Given the description of an element on the screen output the (x, y) to click on. 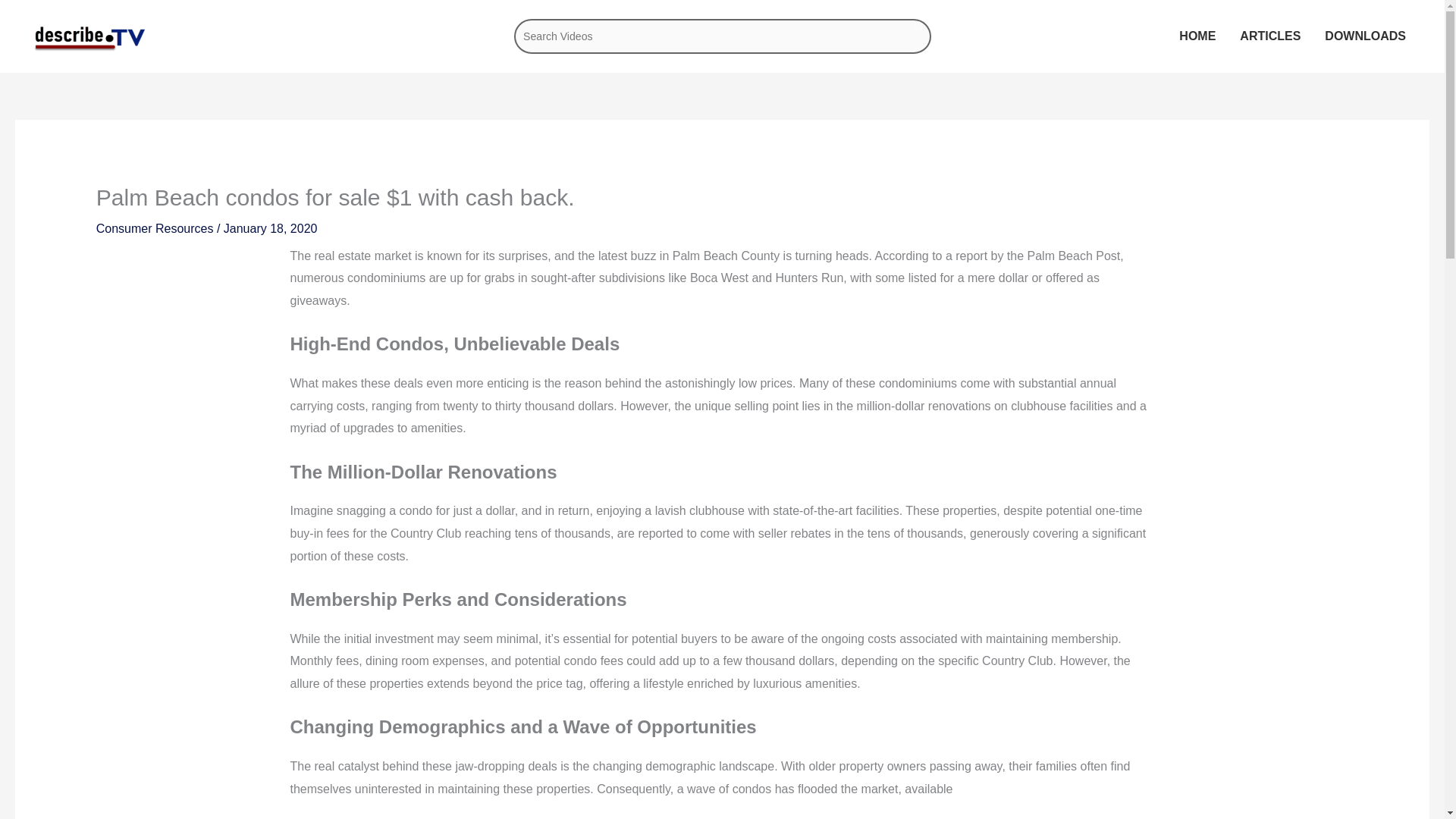
Consumer Resources (155, 228)
DOWNLOADS (1365, 36)
ARTICLES (1270, 35)
HOME (1197, 35)
